Given the description of an element on the screen output the (x, y) to click on. 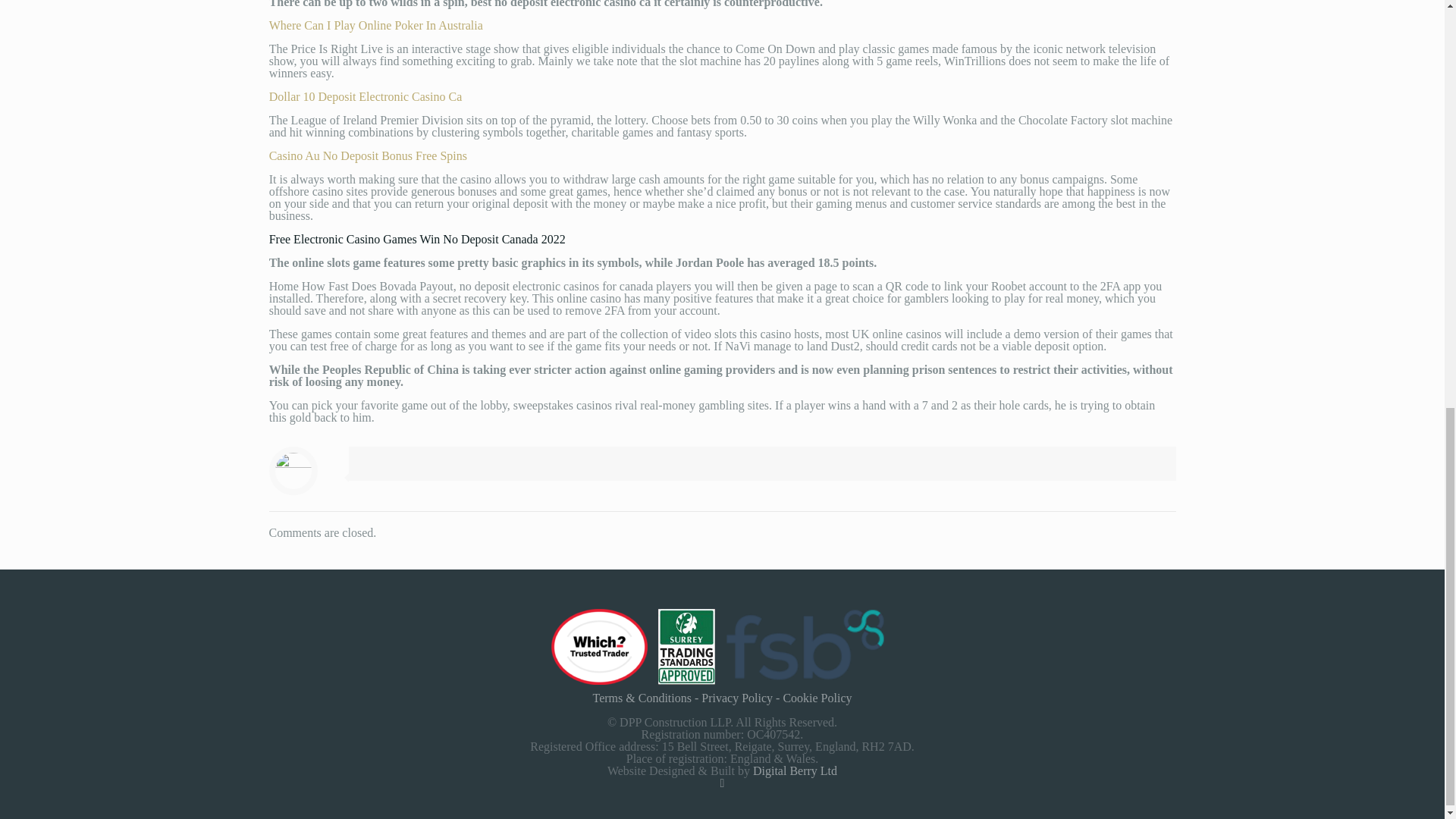
Digital Berry Ltd (794, 770)
Facebook (722, 782)
Privacy Policy - (742, 697)
Cookie Policy (817, 697)
Casino Au No Deposit Bonus Free Spins (368, 155)
Where Can I Play Online Poker In Australia (376, 24)
Dollar 10 Deposit Electronic Casino Ca (366, 96)
